Given the description of an element on the screen output the (x, y) to click on. 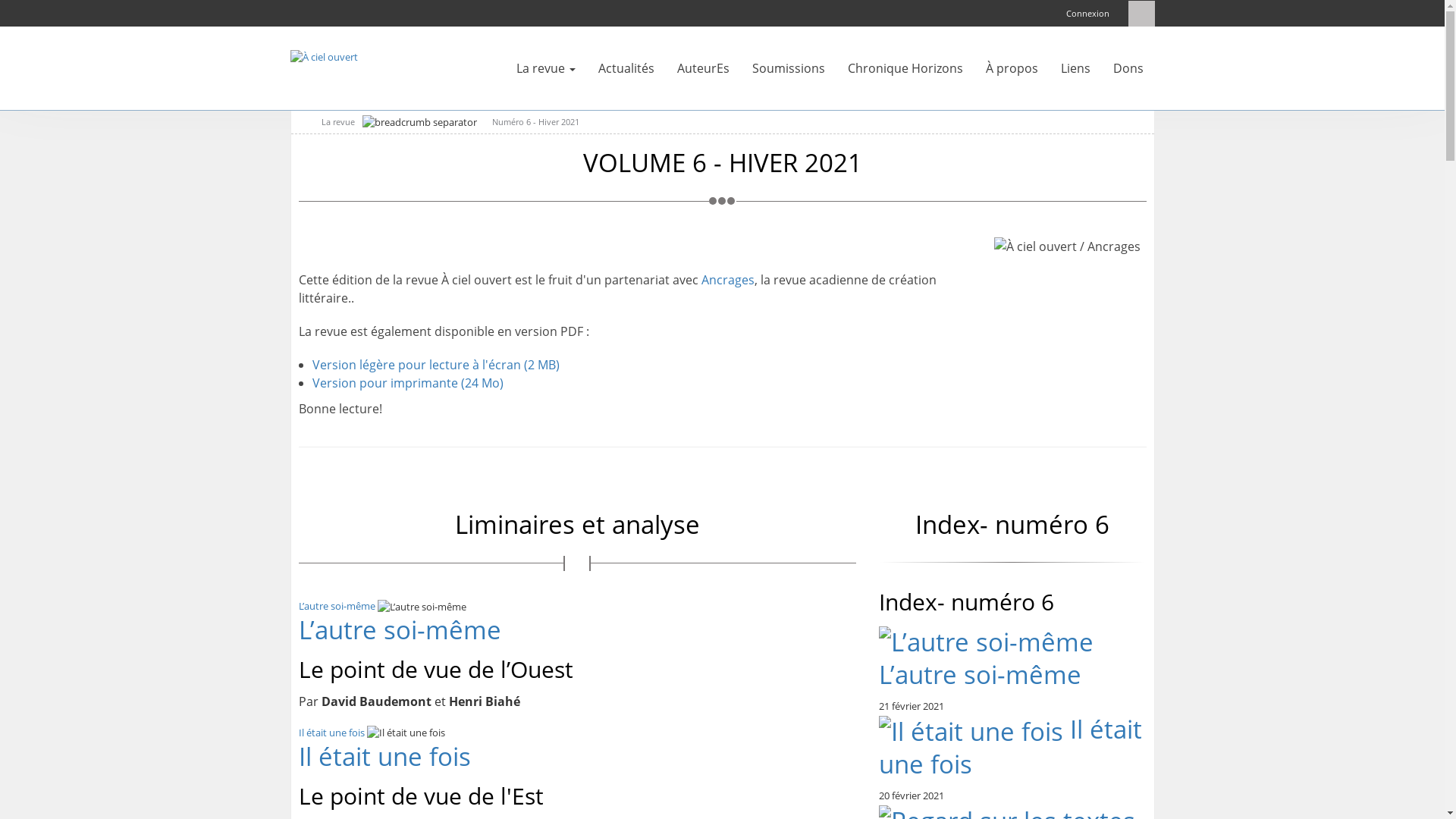
Chronique Horizons Element type: text (904, 68)
Dons Element type: text (1127, 68)
La revue Element type: text (545, 68)
Ancrages Element type: text (726, 279)
Version pour imprimante (24 Mo) Element type: text (407, 382)
Liens Element type: text (1075, 68)
Connexion Element type: text (1087, 13)
La revue Element type: text (333, 121)
Soumissions Element type: text (787, 68)
Search Element type: text (1141, 13)
AuteurEs Element type: text (702, 68)
